Given the description of an element on the screen output the (x, y) to click on. 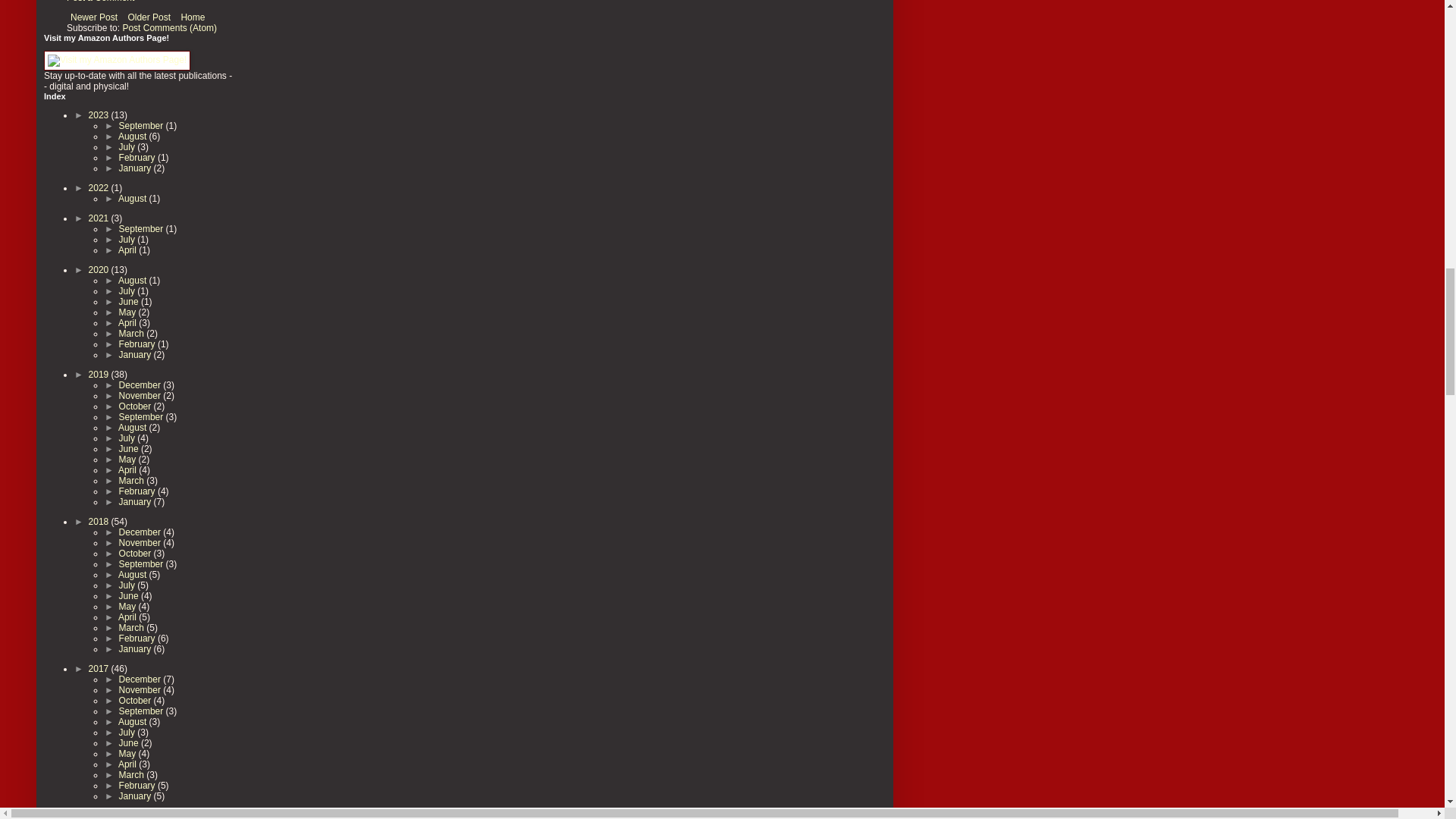
Home (192, 17)
Older Post (148, 17)
2023 (100, 114)
Post a Comment (99, 1)
July (128, 146)
Newer Post (93, 17)
Older Post (148, 17)
September (142, 125)
August (133, 136)
Newer Post (93, 17)
